Given the description of an element on the screen output the (x, y) to click on. 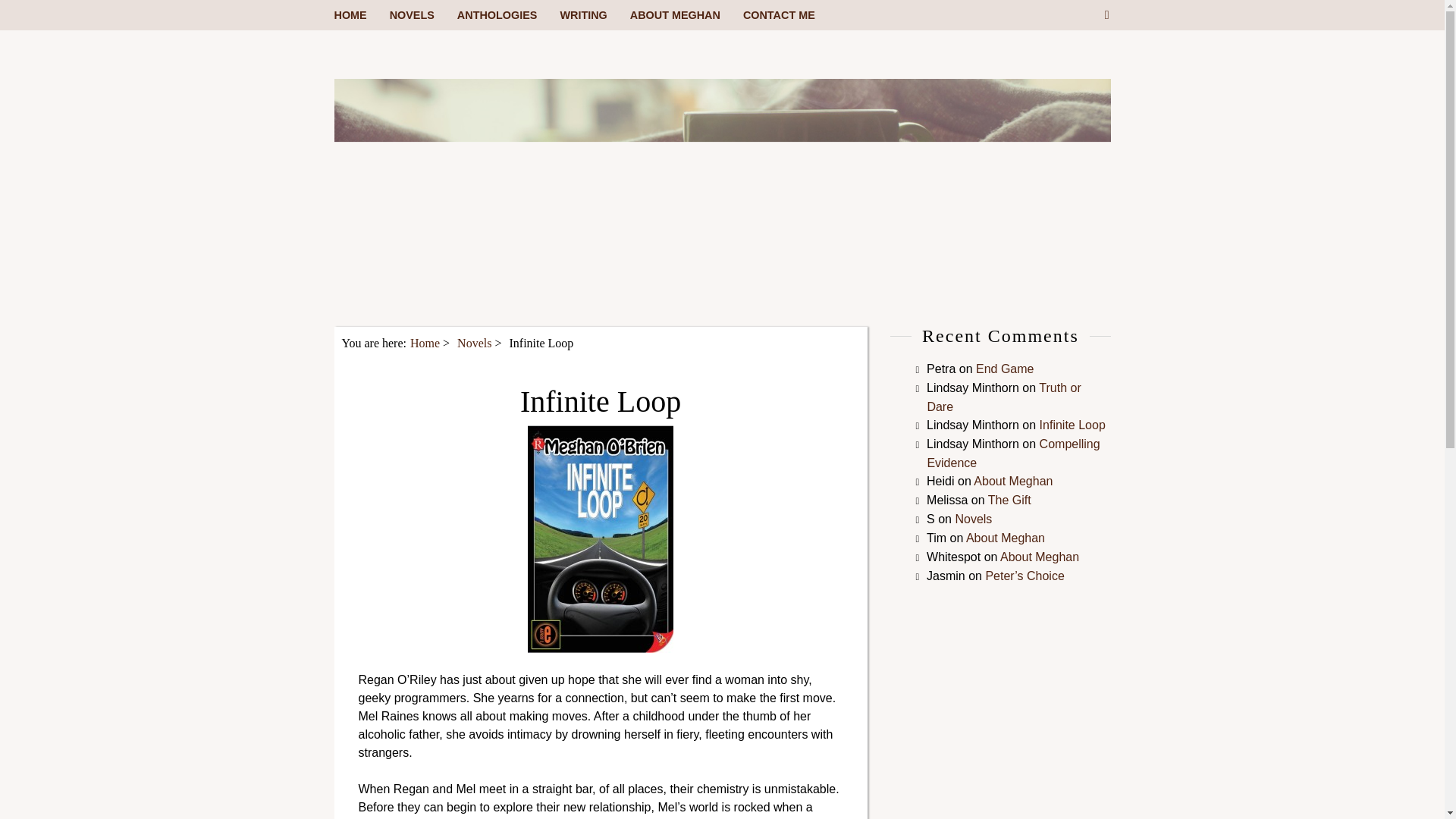
WRITING (593, 15)
Meghan O'Brien (721, 317)
HOME (360, 15)
ANTHOLOGIES (508, 15)
NOVELS (423, 15)
